Given the description of an element on the screen output the (x, y) to click on. 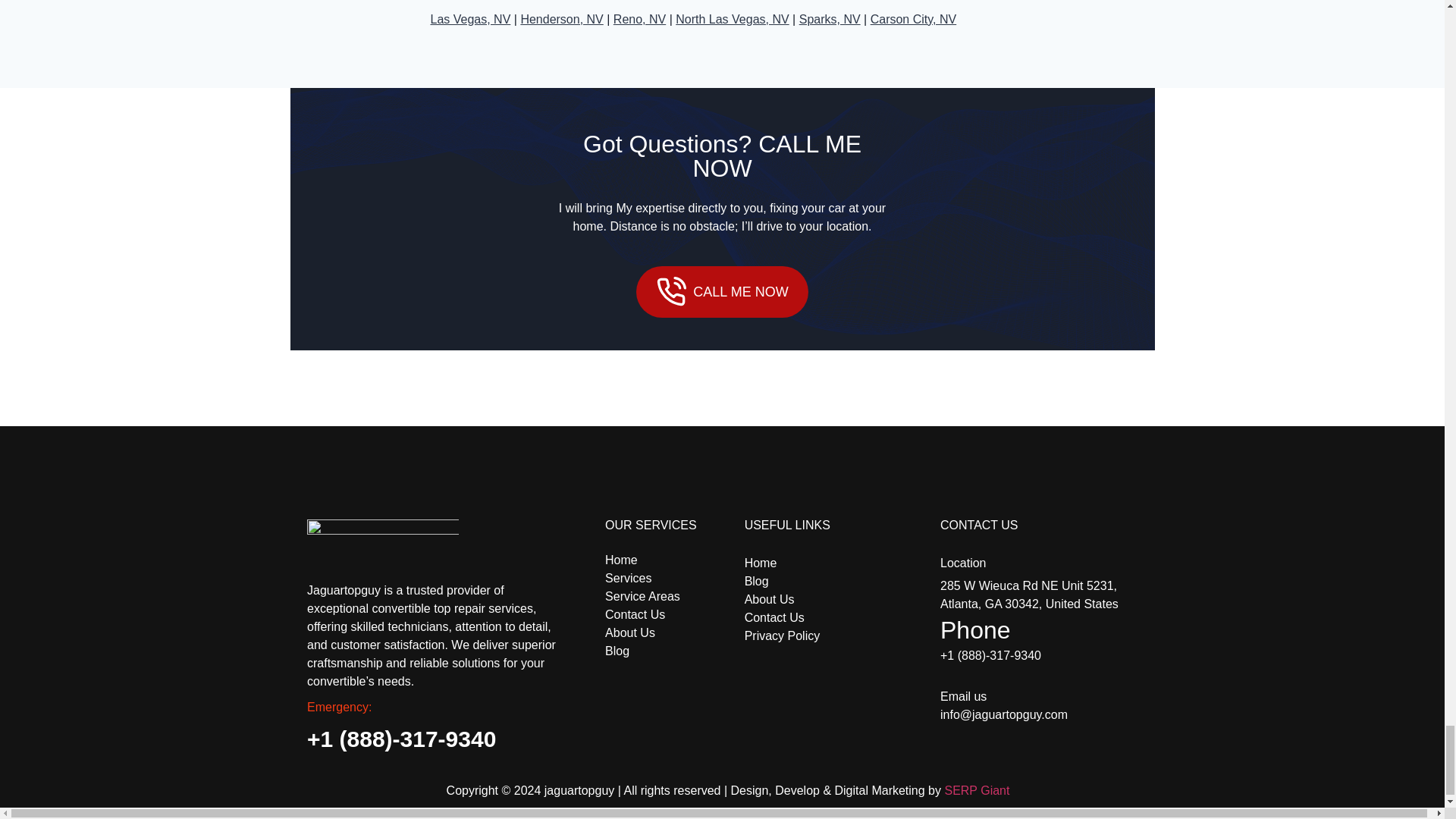
Carson City, NV (913, 19)
Reno, NV (638, 19)
USEFUL LINKS (842, 528)
Email us (1046, 696)
Sparks, NV (829, 19)
OUR SERVICES (674, 527)
CONTACT US (1046, 528)
Phone (674, 605)
